Given the description of an element on the screen output the (x, y) to click on. 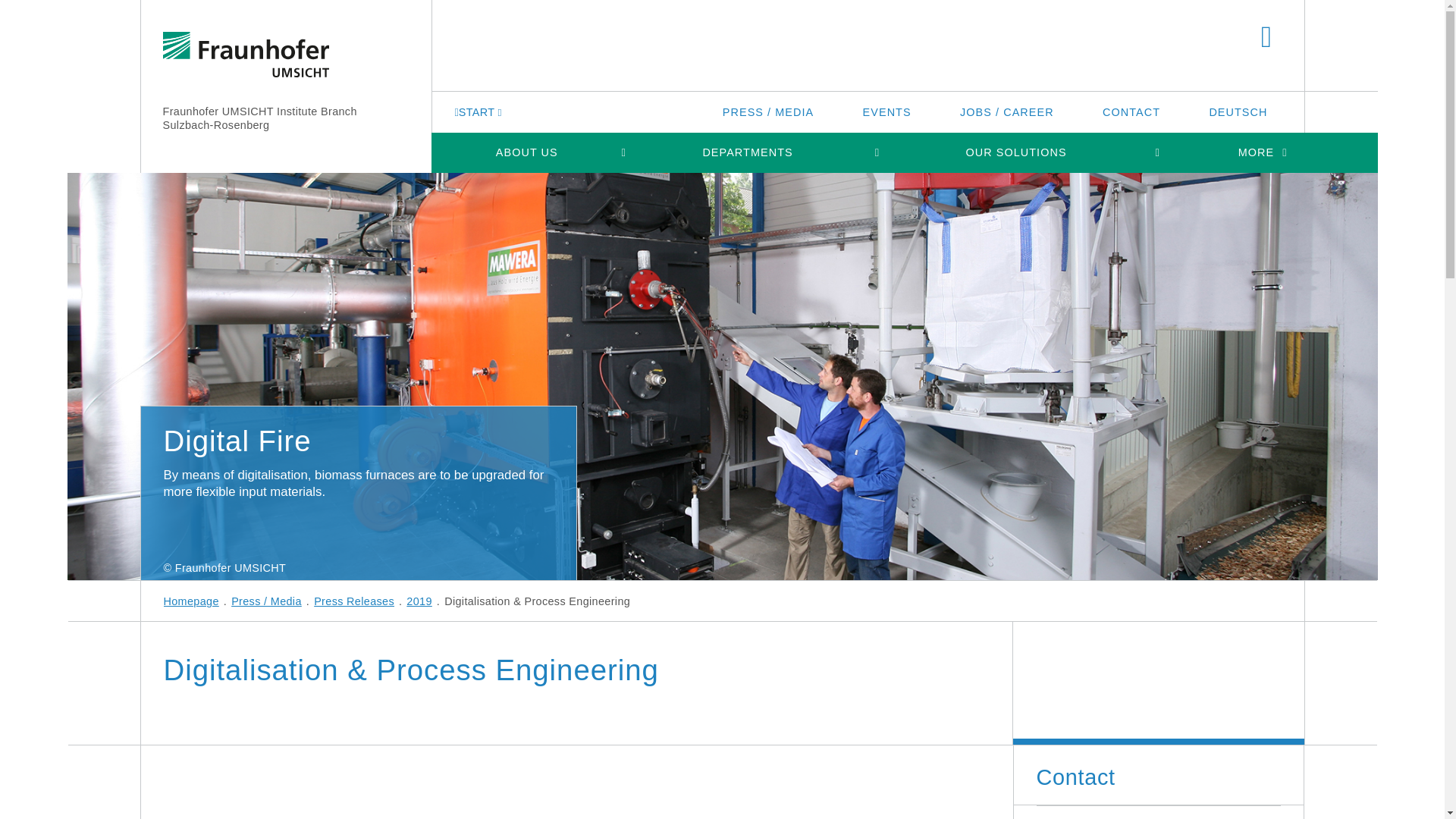
Fraunhofer UMSICHT Institute Branch Sulzbach-Rosenberg (258, 118)
START (479, 111)
DEPARTMENTS (747, 151)
ABOUT US (526, 151)
CONTACT (1131, 111)
OUR SOLUTIONS (1015, 151)
EVENTS (887, 111)
DEUTSCH (1238, 111)
SEARCH (1266, 37)
